Given the description of an element on the screen output the (x, y) to click on. 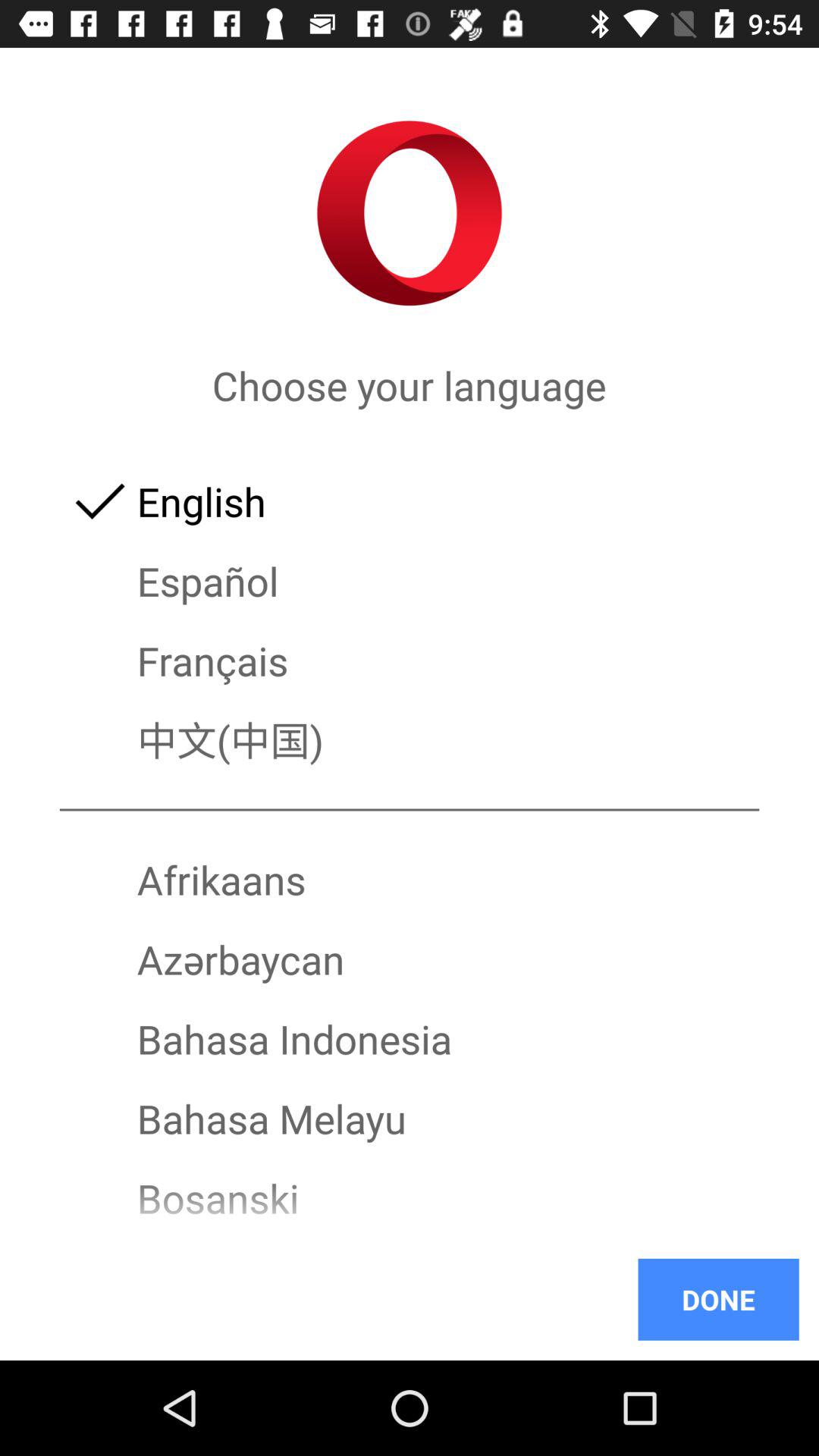
turn off icon below bosanski (409, 1238)
